Given the description of an element on the screen output the (x, y) to click on. 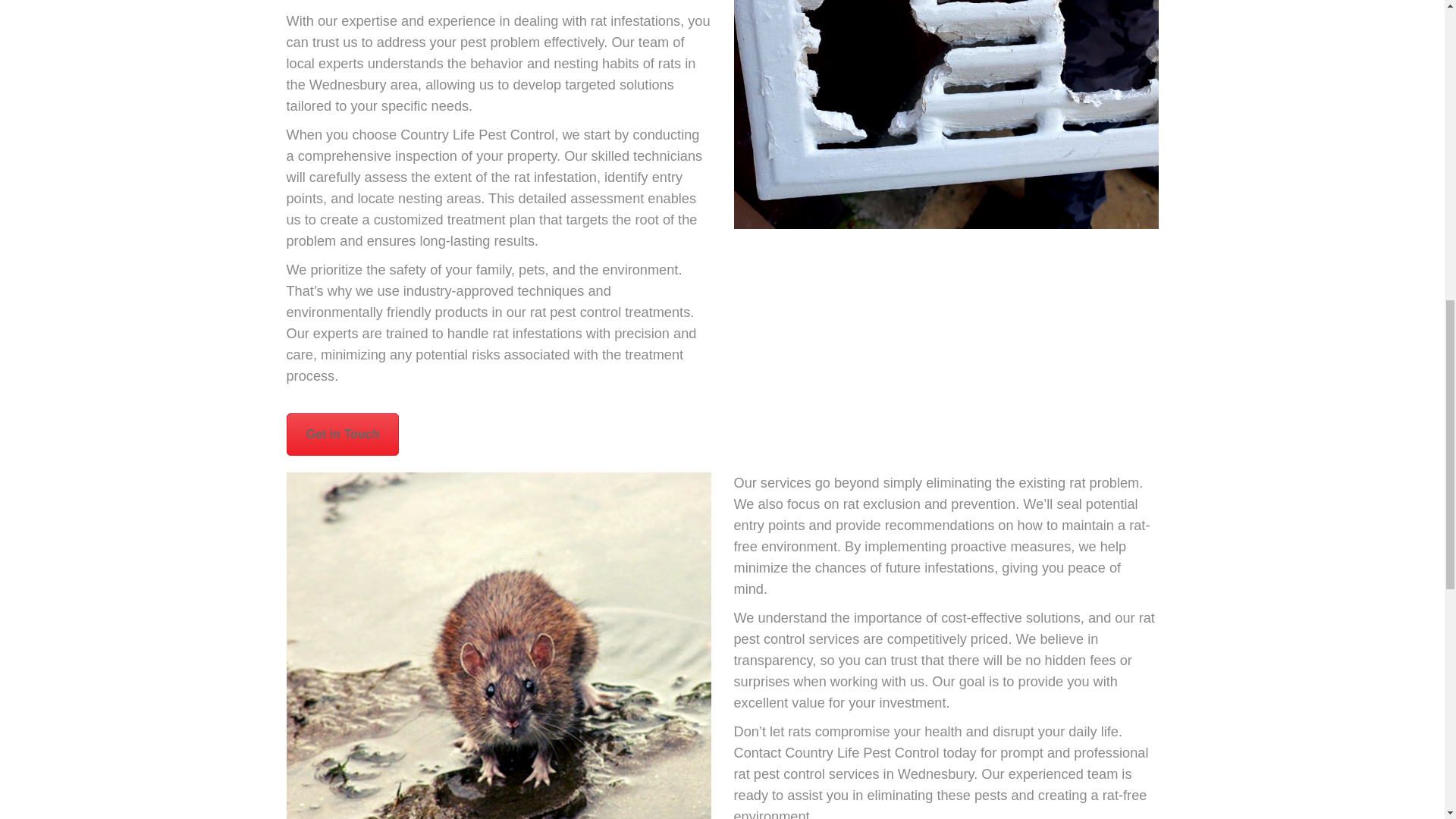
Rat hole in vent (945, 114)
Contact us (342, 434)
